Given the description of an element on the screen output the (x, y) to click on. 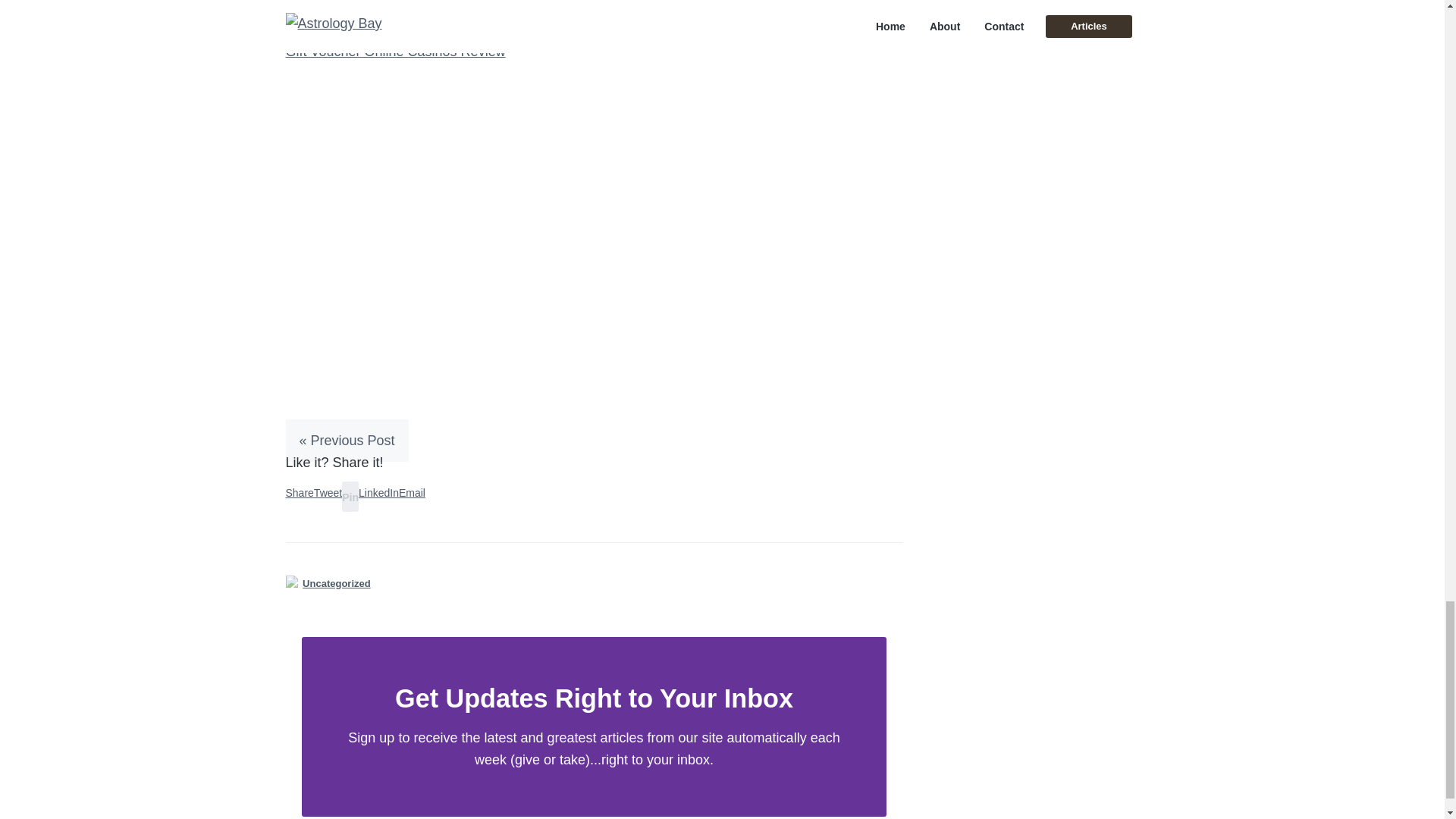
LinkedIn (378, 492)
Gift Voucher Online Casinos Review (395, 51)
Comanche Spur Smoke Shop And Casino (411, 29)
Gift Voucher Online Casinos Review (395, 51)
Comanche Spur Smoke Shop And Casino (411, 29)
Share on LinkedIn (378, 492)
Share on Twitter (328, 492)
Tweet (328, 492)
Wizary Casino Registration Process (393, 7)
Send over email (411, 492)
Wizary Casino Registration Process (393, 7)
Uncategorized (336, 583)
Email (411, 492)
Share (299, 492)
Share on Facebook (299, 492)
